Given the description of an element on the screen output the (x, y) to click on. 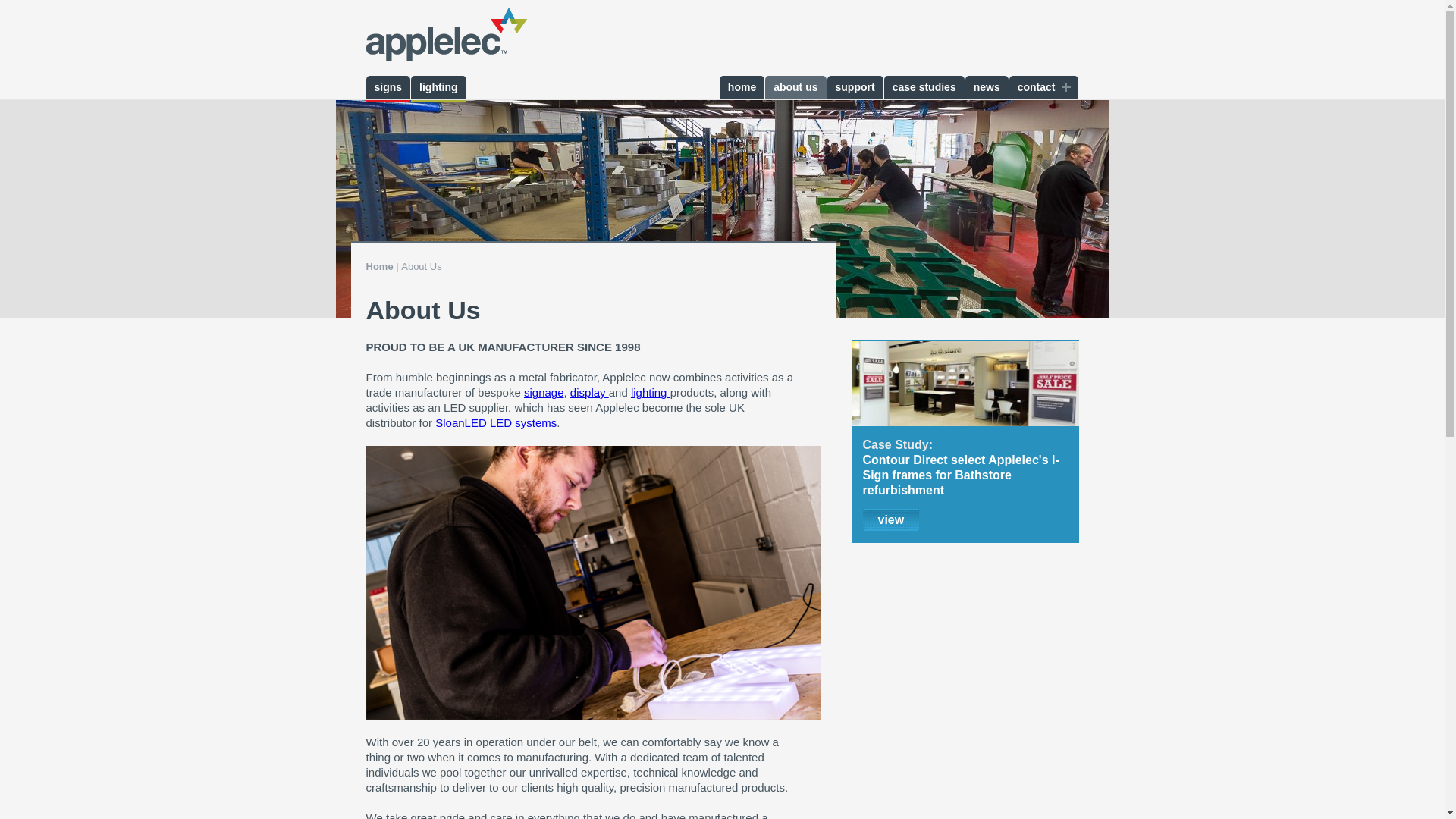
lighting (437, 87)
signs (387, 87)
applelec (445, 35)
